Given the description of an element on the screen output the (x, y) to click on. 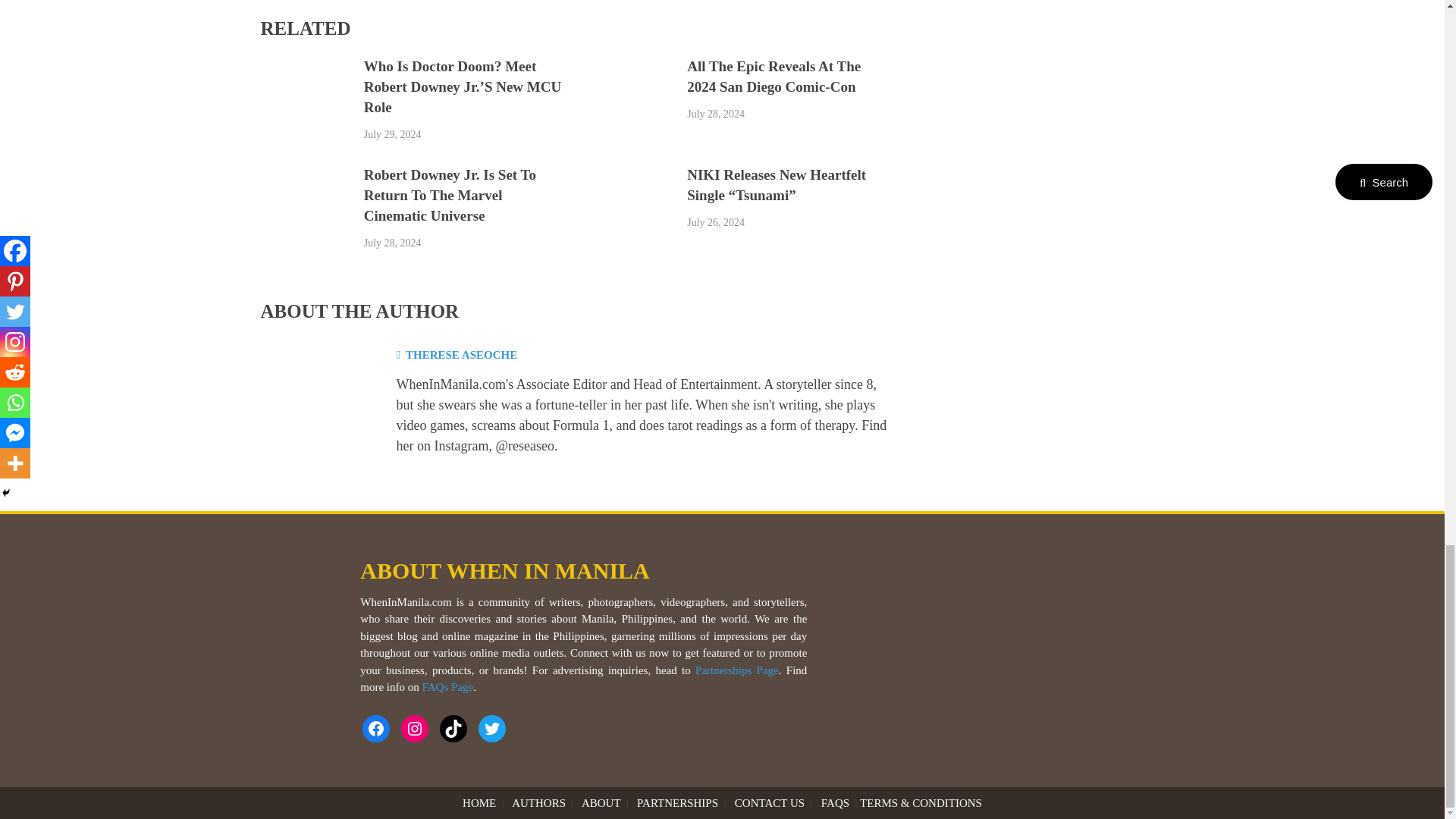
All the Epic Reveals at the 2024 San Diego Comic-Con (773, 76)
All the Epic Reveals at the 2024 San Diego Comic-Con 3 (627, 104)
